Given the description of an element on the screen output the (x, y) to click on. 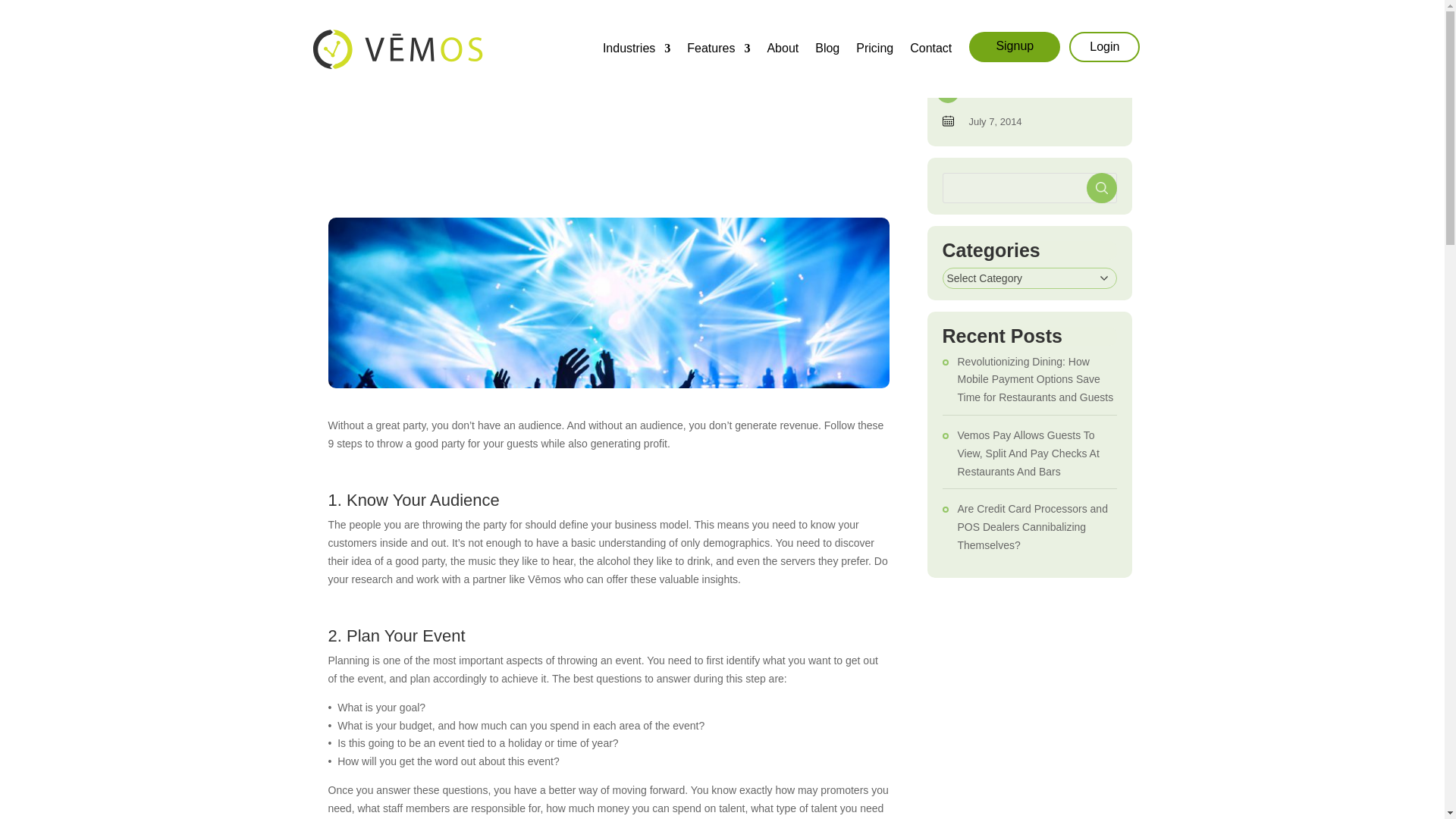
vemos-logo (398, 48)
